Given the description of an element on the screen output the (x, y) to click on. 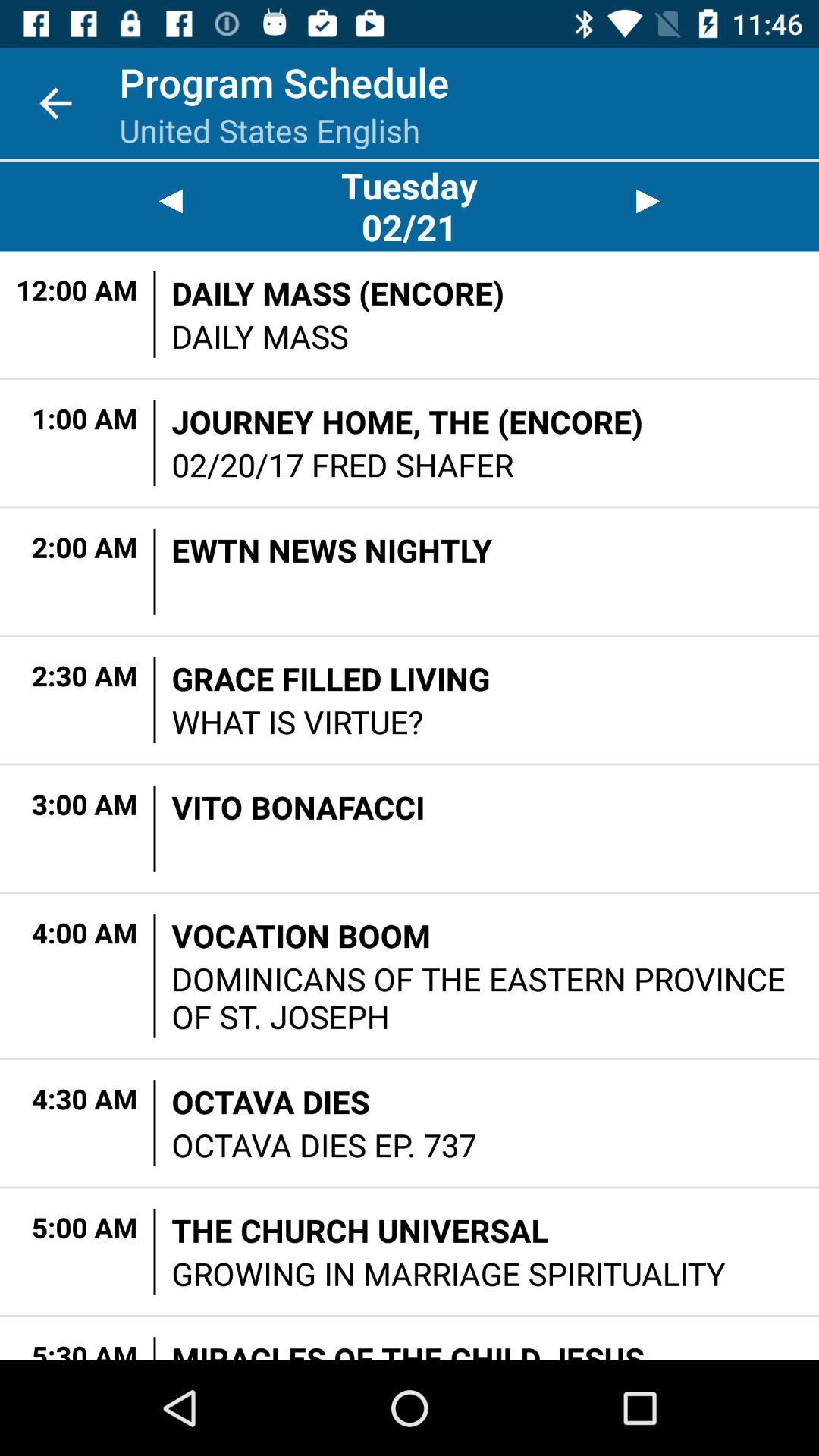
turn on item to the left of the ewtn news nightly icon (154, 571)
